Given the description of an element on the screen output the (x, y) to click on. 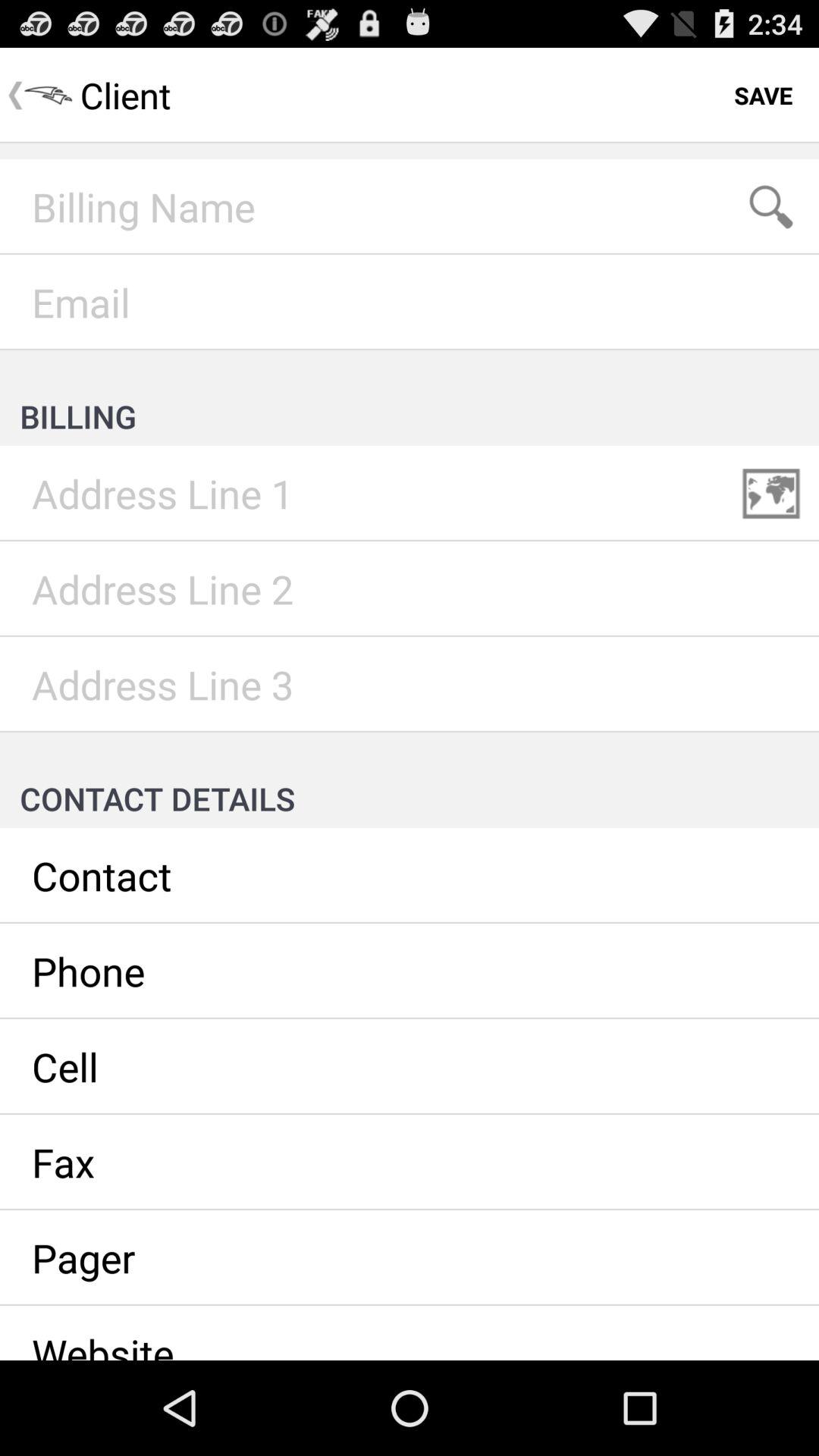
add billing name (409, 206)
